Given the description of an element on the screen output the (x, y) to click on. 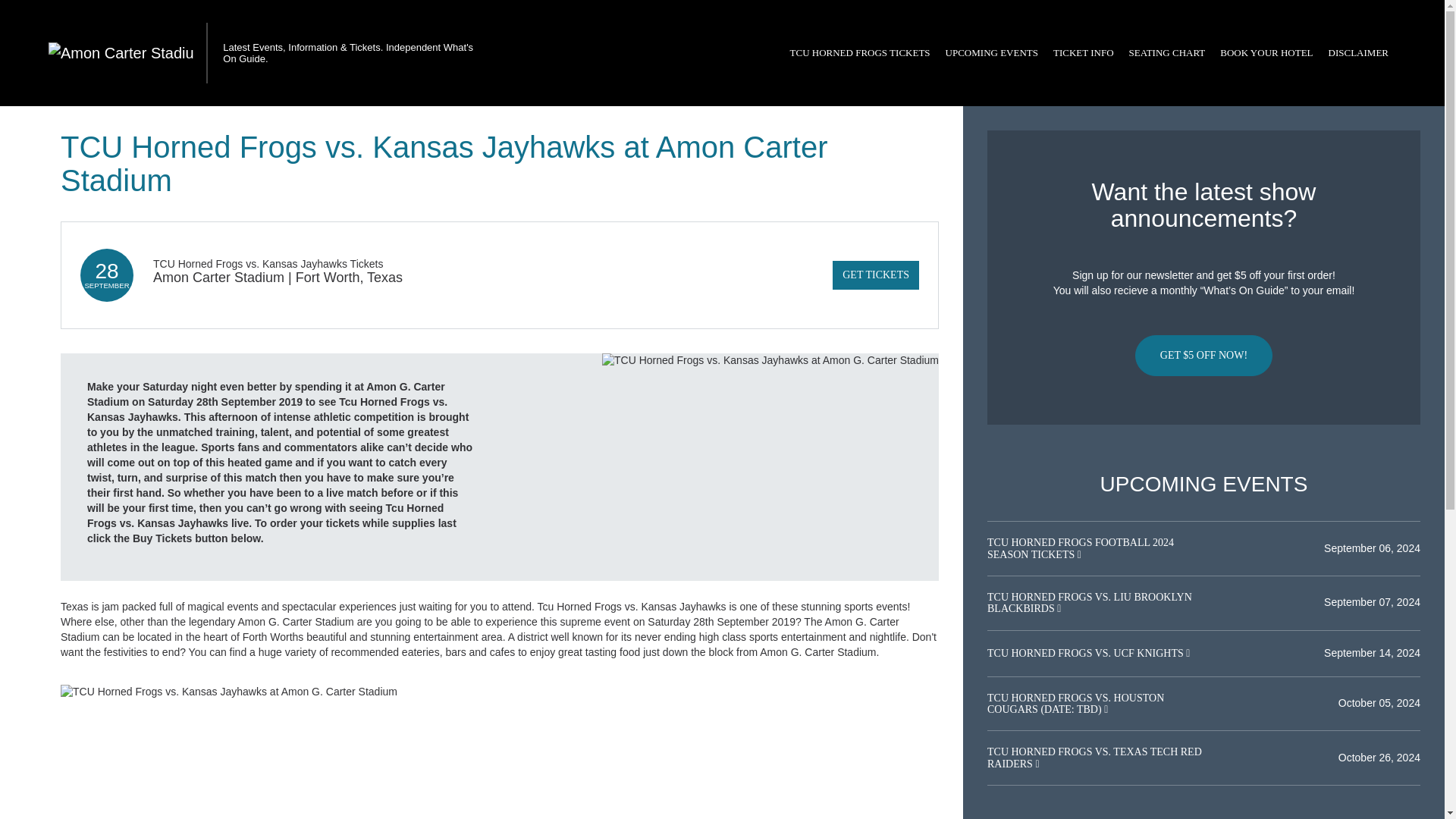
DISCLAIMER (1358, 52)
TCU HORNED FROGS FOOTBALL 2024 SEASON TICKETS (1080, 548)
VIEW ALL EVENTS (1203, 814)
TCU HORNED FROGS TICKETS (860, 52)
UPCOMING EVENTS (991, 52)
SEATING CHART (1166, 52)
BOOK YOUR HOTEL (1266, 52)
GET TICKETS (875, 275)
